Given the description of an element on the screen output the (x, y) to click on. 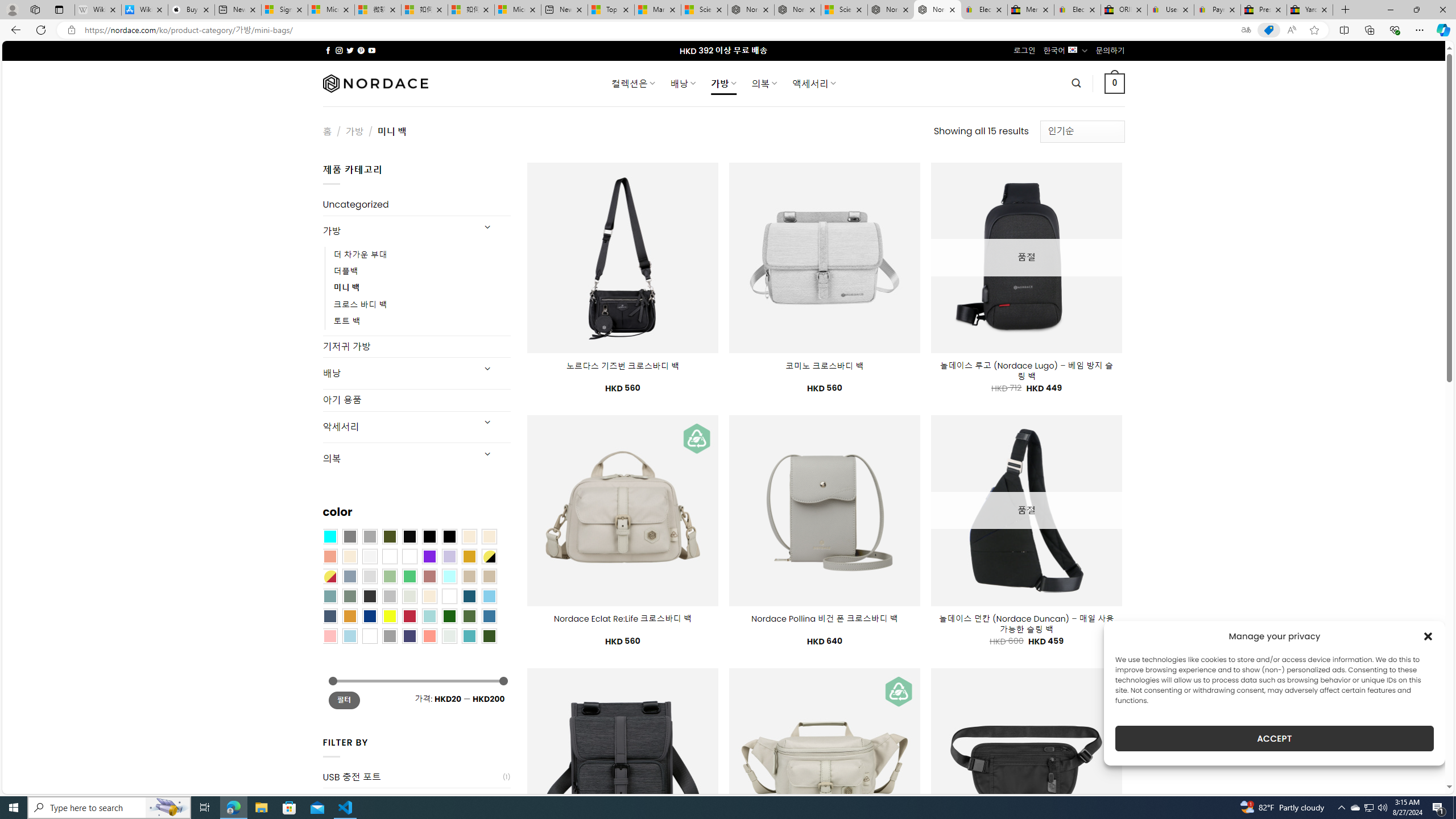
This site has coupons! Shopping in Microsoft Edge, 5 (1268, 29)
